Given the description of an element on the screen output the (x, y) to click on. 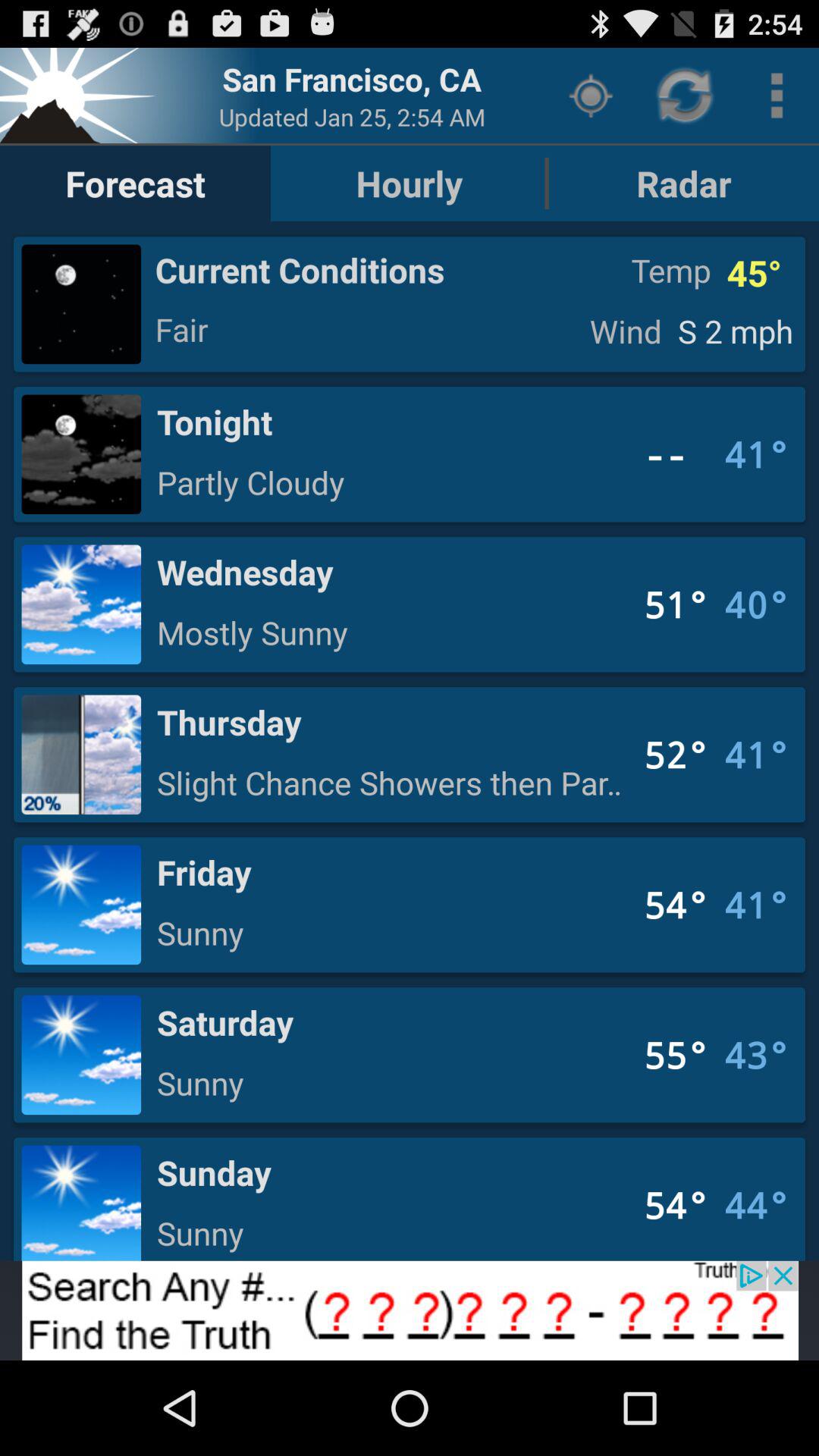
click on add (409, 1310)
